Given the description of an element on the screen output the (x, y) to click on. 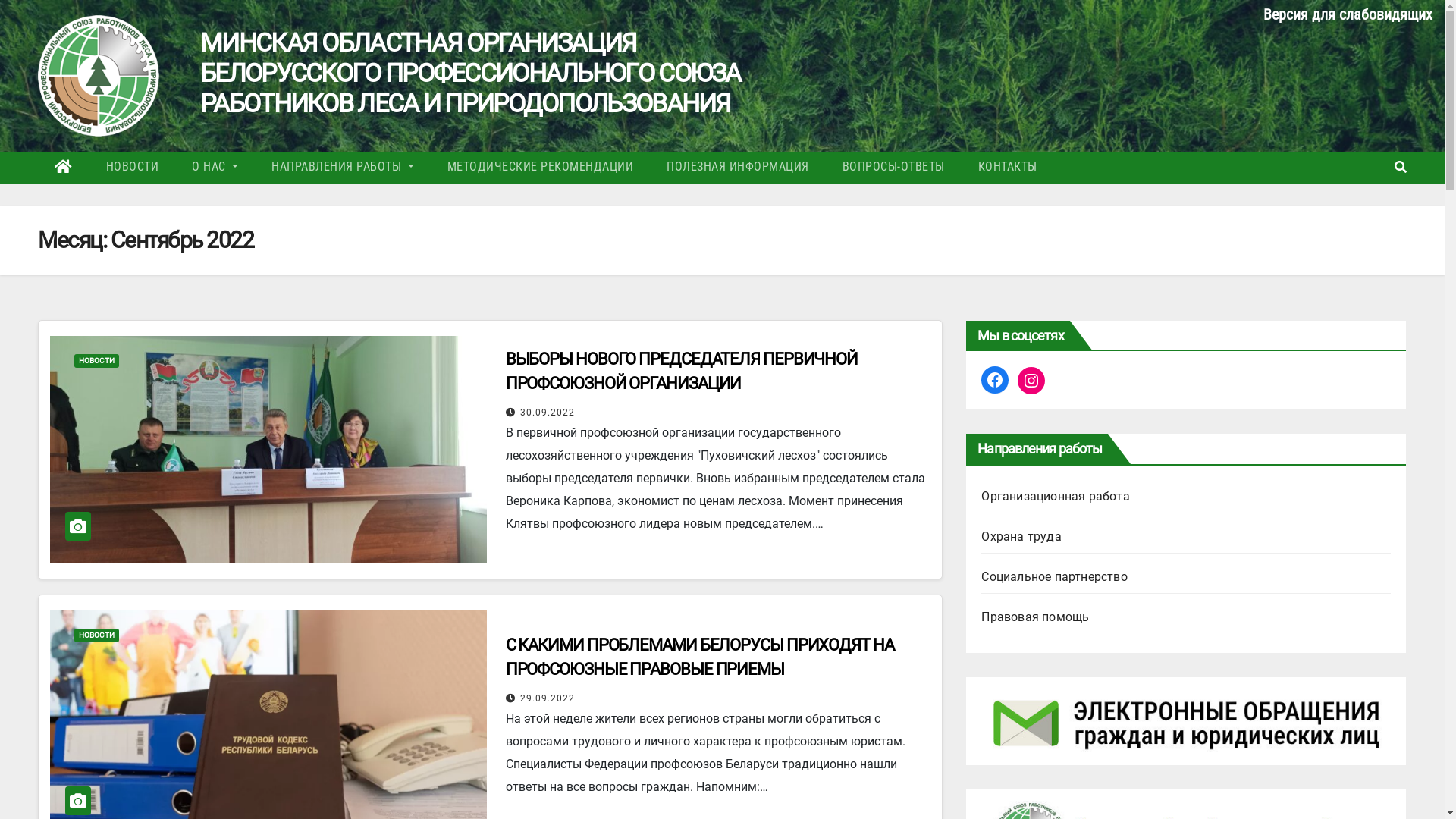
Home Element type: hover (63, 167)
Facebook Element type: text (994, 379)
29.09.2022 Element type: text (547, 698)
30.09.2022 Element type: text (547, 412)
Instagram Element type: text (1030, 380)
